Given the description of an element on the screen output the (x, y) to click on. 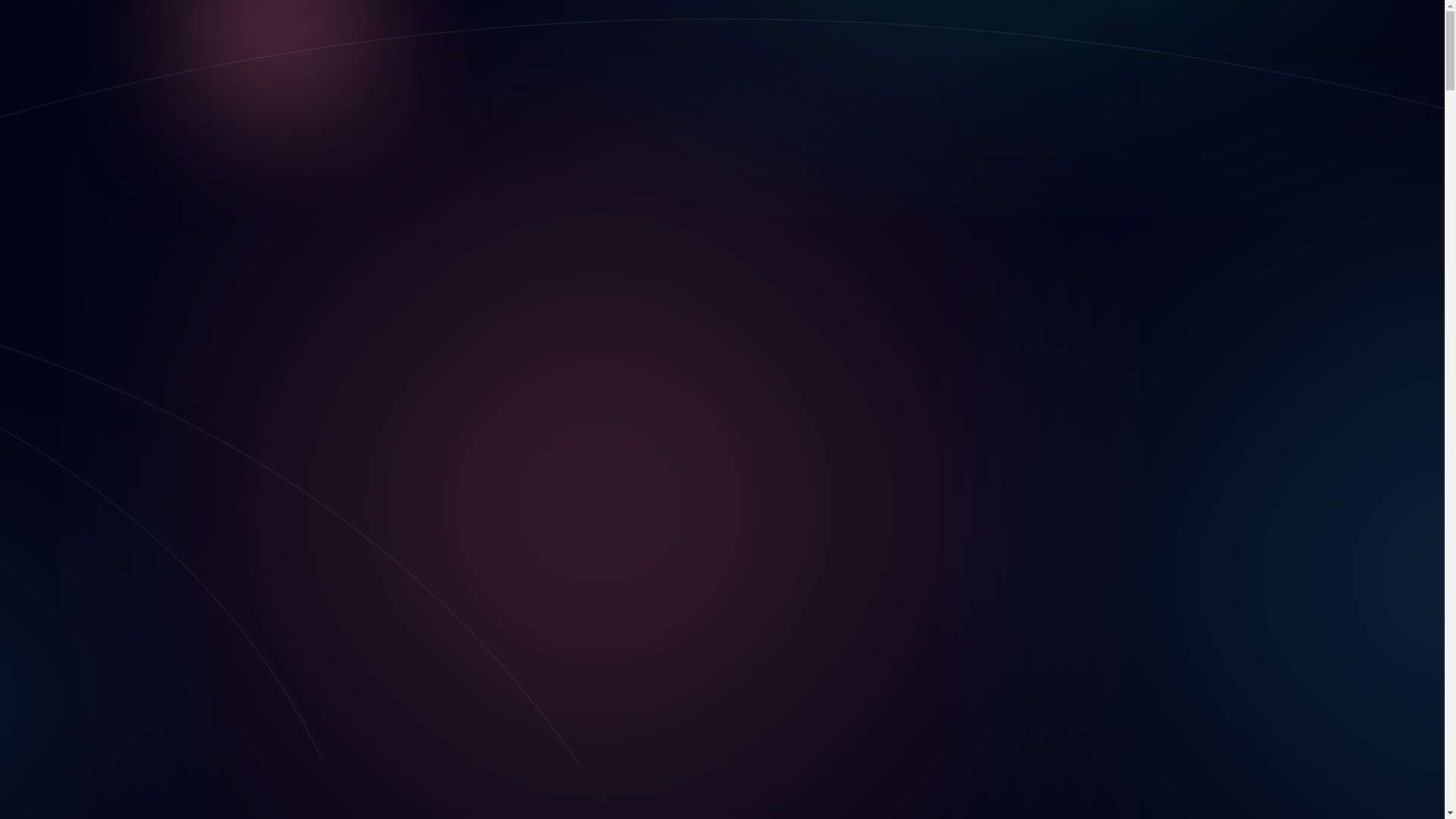
Services (50, 180)
IMADO (117, 19)
E-commerce Development (125, 72)
WordPress (146, 535)
Convert Design to WordPress (133, 86)
Speed Optimization (138, 289)
WordPress Website Audit Service (142, 113)
WordPress (116, 317)
Elementor (145, 453)
Website Design (128, 235)
Developers On Demand (149, 303)
WooCommerce (158, 549)
Design Conversion (107, 412)
Adobe XD to (122, 508)
Design (77, 221)
